Given the description of an element on the screen output the (x, y) to click on. 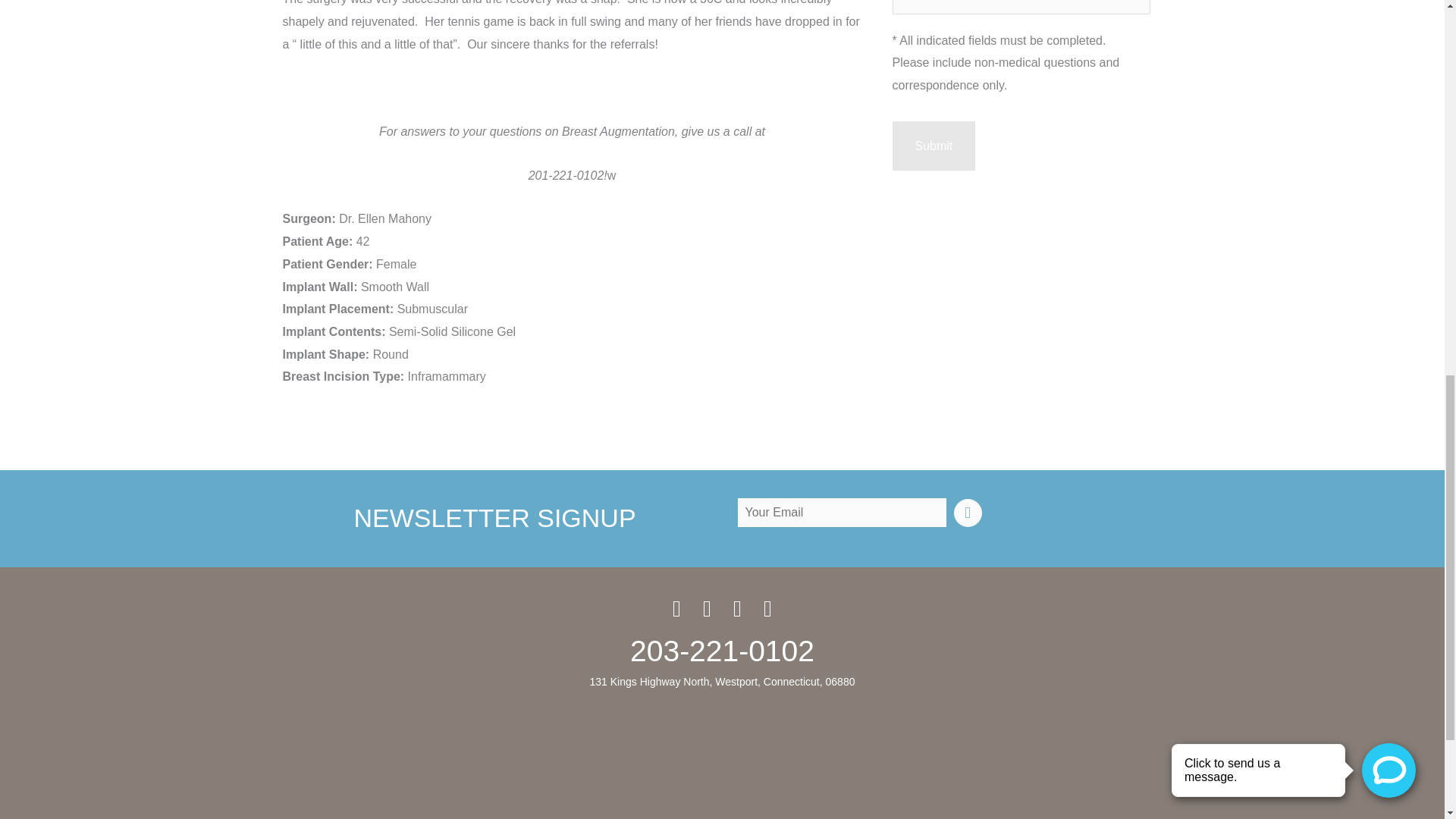
Click Here (967, 512)
Submit (933, 146)
accolades-footer-edited (721, 760)
